Given the description of an element on the screen output the (x, y) to click on. 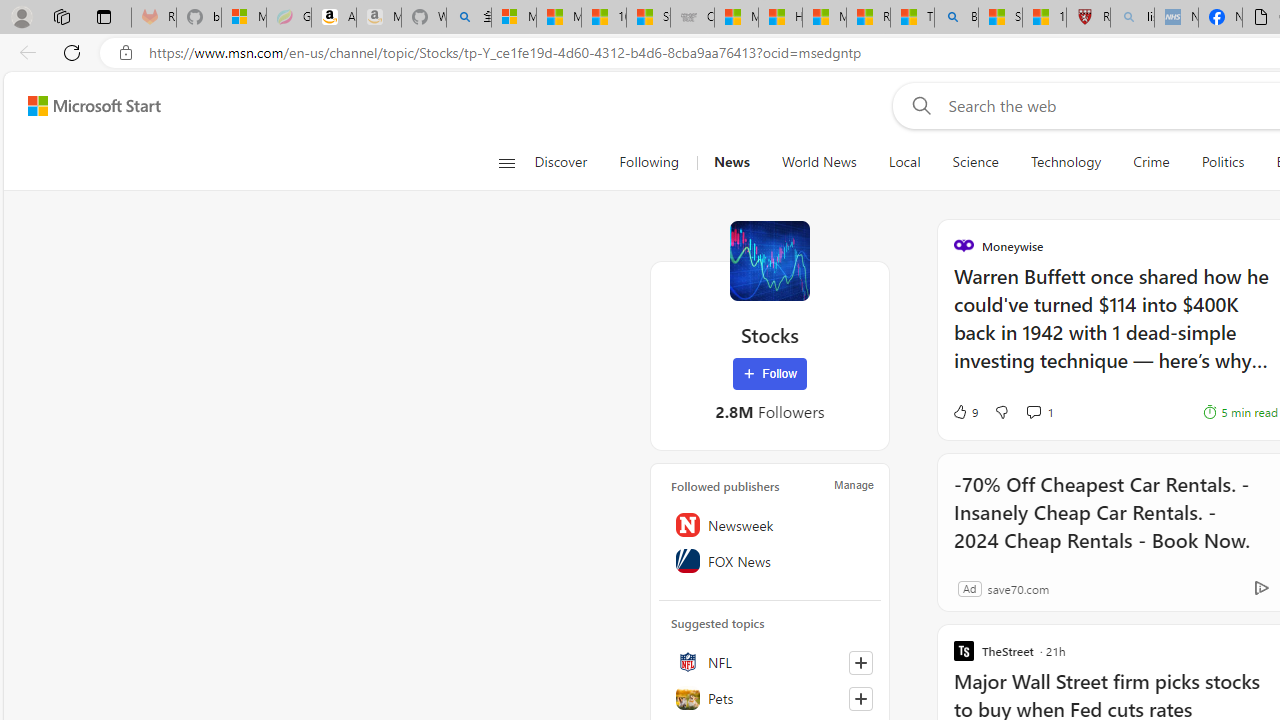
View comments 1 Comment (1033, 411)
Ad (969, 588)
Follow (769, 373)
World News (818, 162)
World News (818, 162)
Following (648, 162)
Technology (1065, 162)
NCL Adult Asthma Inhaler Choice Guideline - Sleeping (1176, 17)
Discover (568, 162)
Technology (1066, 162)
